Given the description of an element on the screen output the (x, y) to click on. 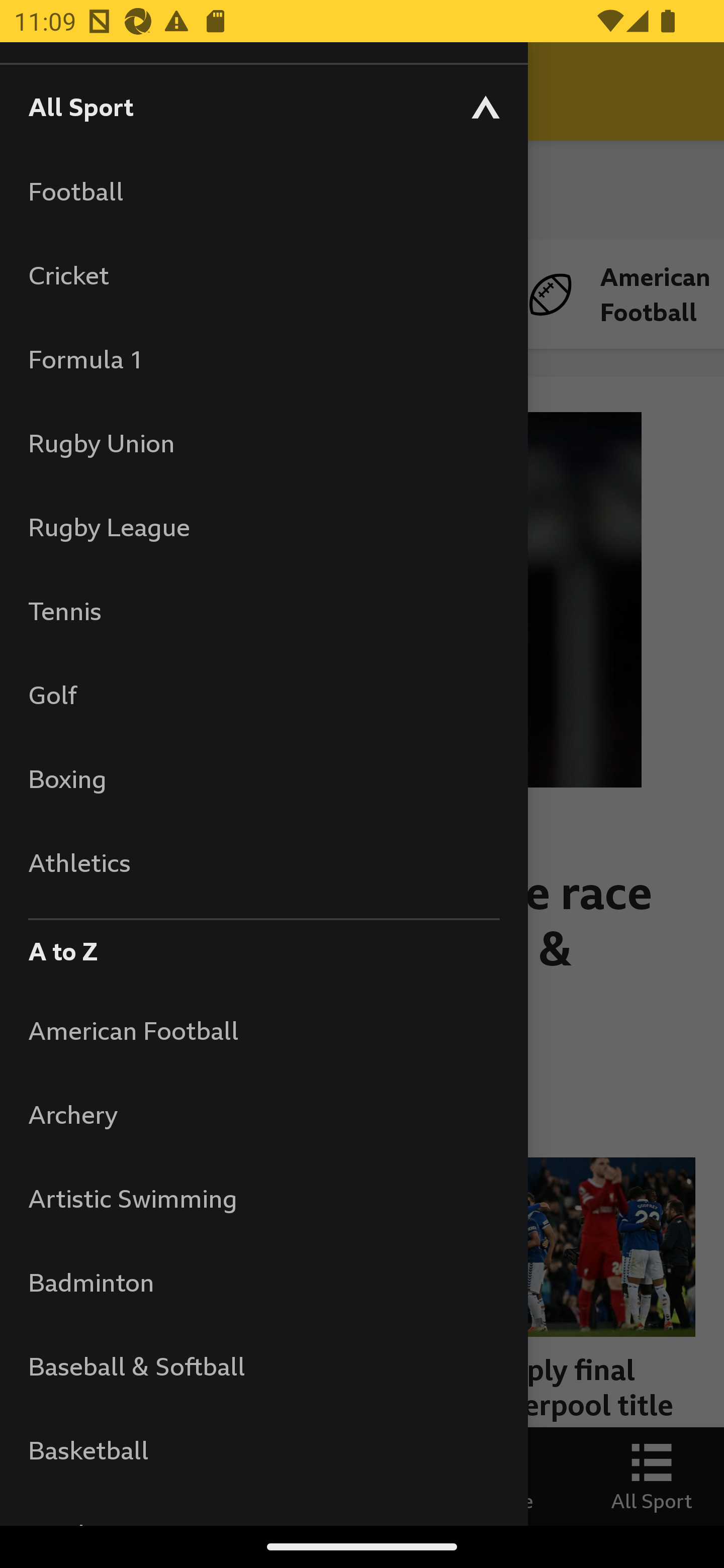
All Sport (263, 105)
Football (263, 190)
Cricket (263, 274)
Formula 1 (263, 358)
Rugby Union (263, 441)
Rugby League (263, 526)
Tennis (263, 609)
Golf (263, 694)
Boxing (263, 778)
Athletics (263, 862)
A to Z (263, 945)
American Football (263, 1029)
Archery (263, 1114)
Artistic Swimming (263, 1197)
Badminton (263, 1282)
Baseball & Softball (263, 1365)
Basketball (263, 1450)
